Given the description of an element on the screen output the (x, y) to click on. 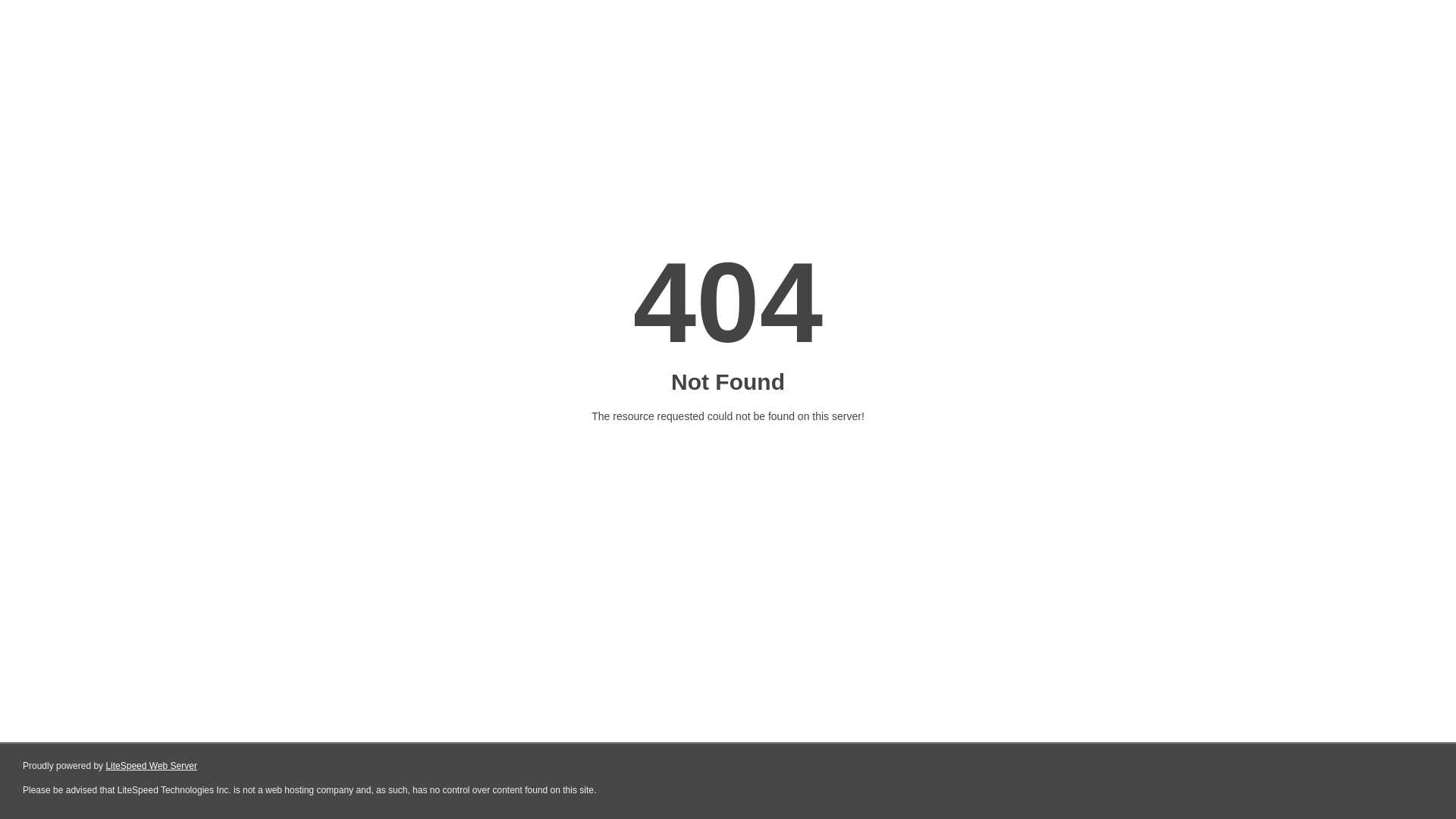
LiteSpeed Web Server Element type: text (151, 765)
